Given the description of an element on the screen output the (x, y) to click on. 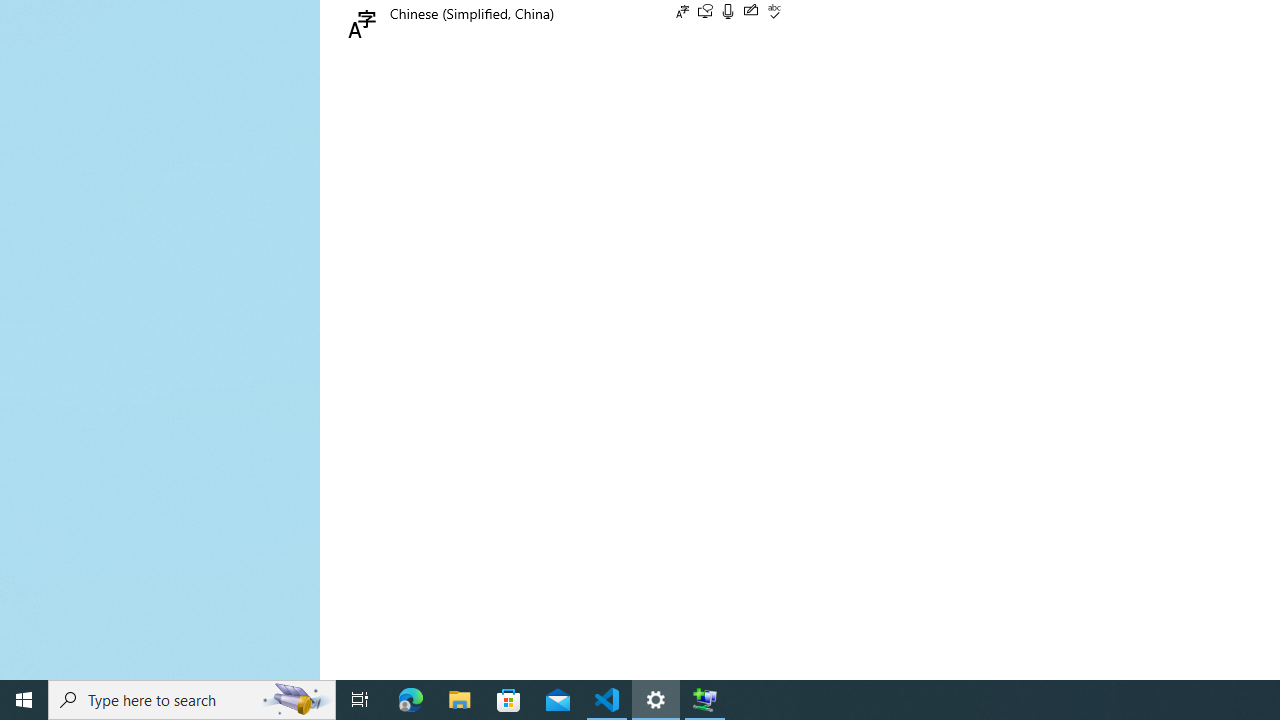
Settings - 1 running window (656, 699)
Extensible Wizards Host Process - 1 running window (704, 699)
